Given the description of an element on the screen output the (x, y) to click on. 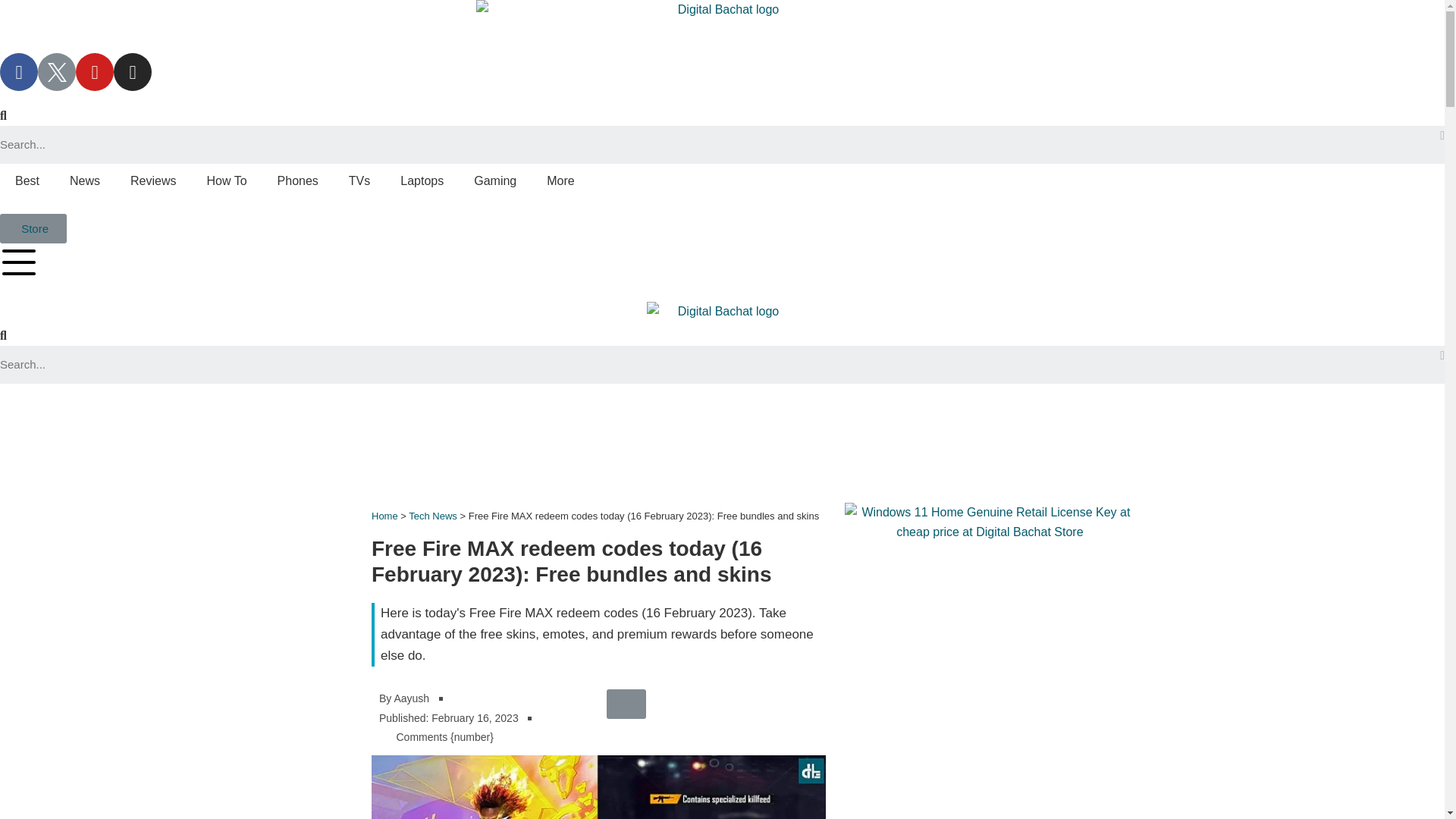
TVs (359, 181)
How To (226, 181)
Gaming (494, 181)
Store (33, 228)
Home (384, 515)
Reviews (152, 181)
By Aayush (403, 699)
More (560, 181)
Laptops (421, 181)
Digital Bachat logo (721, 313)
Search (719, 144)
Best (27, 181)
News (85, 181)
Digital Bachat (722, 26)
Phones (297, 181)
